Given the description of an element on the screen output the (x, y) to click on. 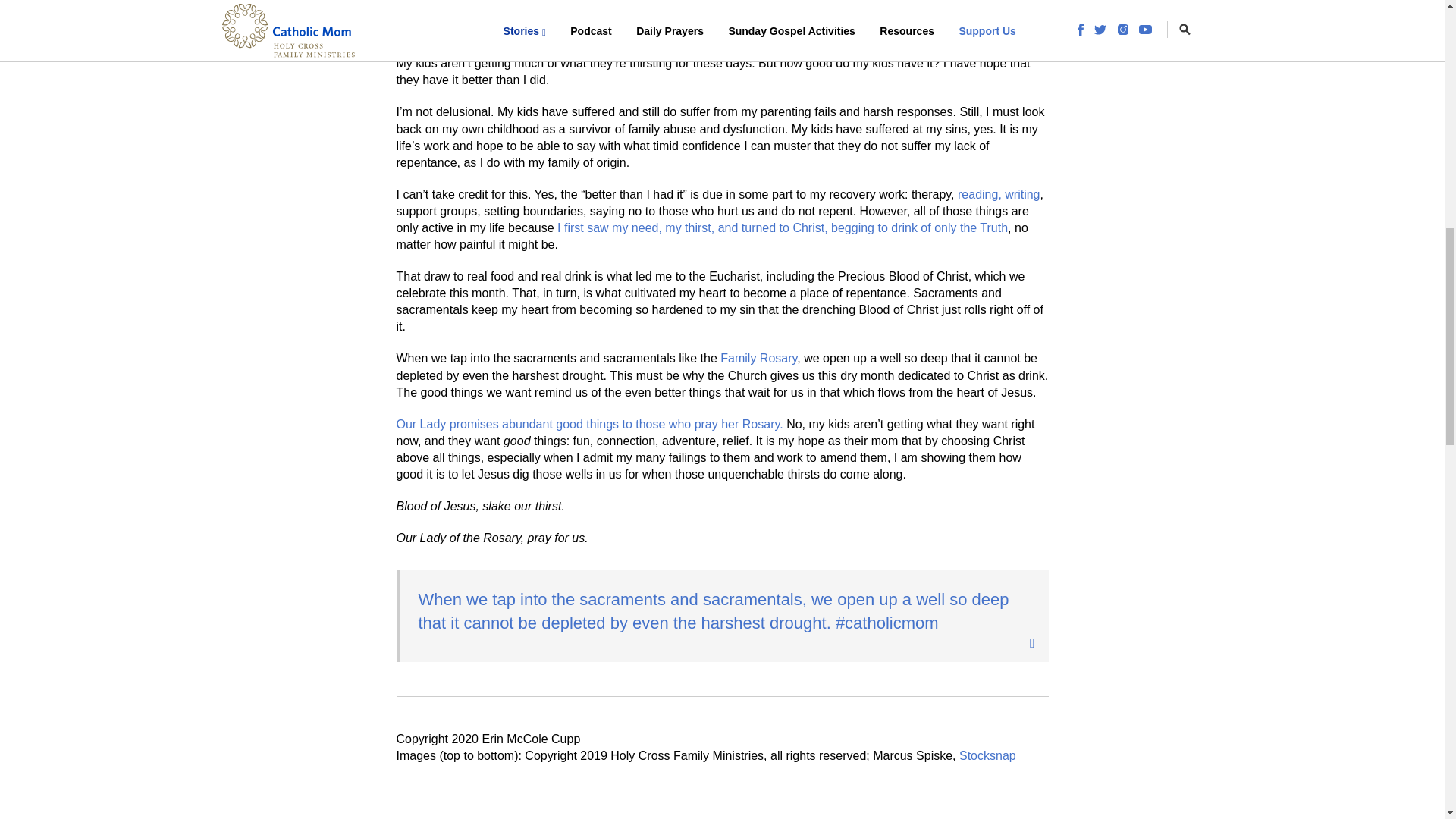
reading, writing (999, 194)
Family Rosary (758, 358)
Stocksnap (987, 755)
